Given the description of an element on the screen output the (x, y) to click on. 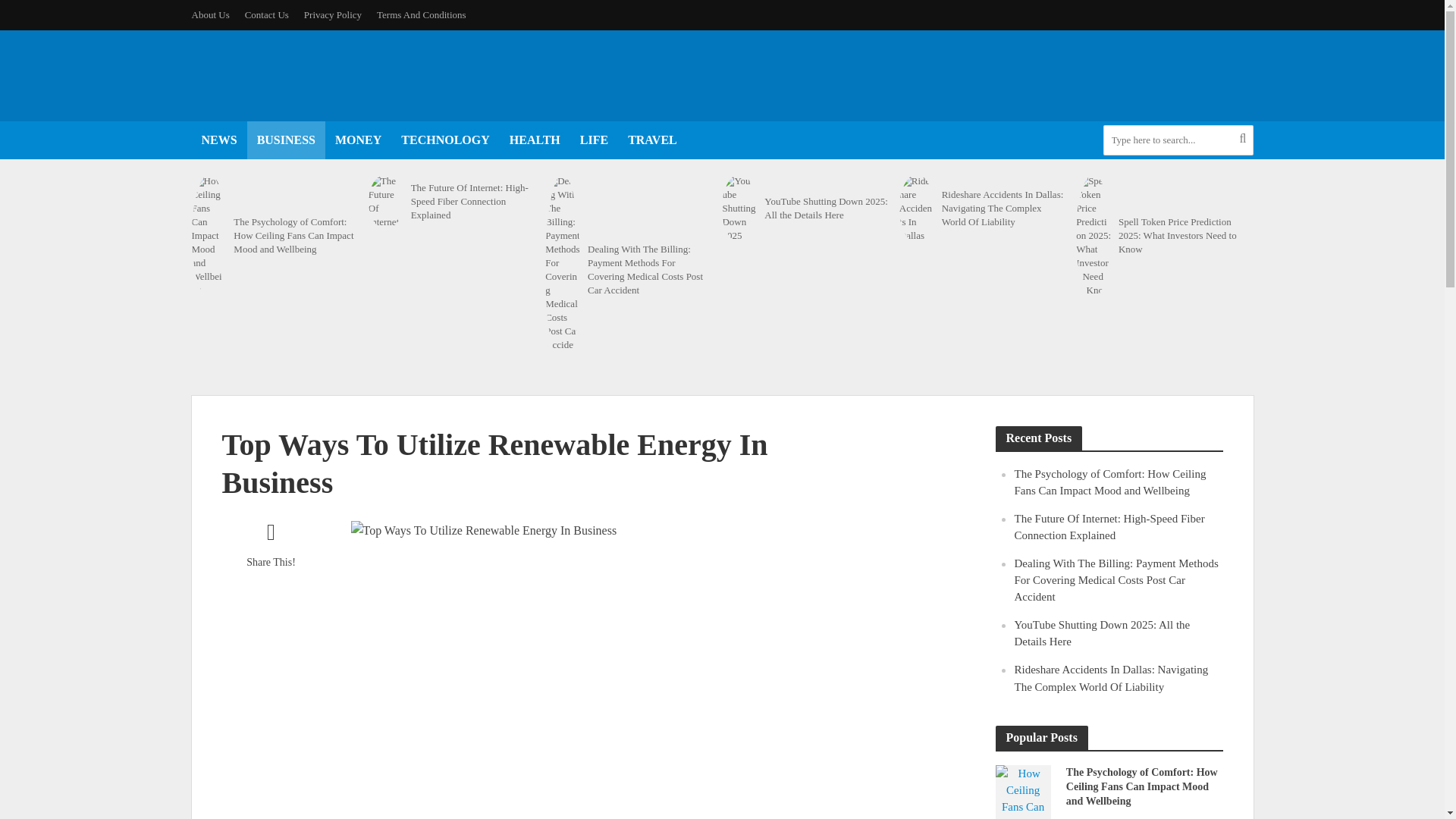
BUSINESS (285, 139)
Terms And Conditions (421, 15)
Contact Us (267, 15)
YouTube Shutting Down 2025: All the Details Here (826, 207)
NEWS (218, 139)
YouTube Shutting Down 2025: All the Details Here (739, 208)
HEALTH (534, 139)
LIFE (593, 139)
